Given the description of an element on the screen output the (x, y) to click on. 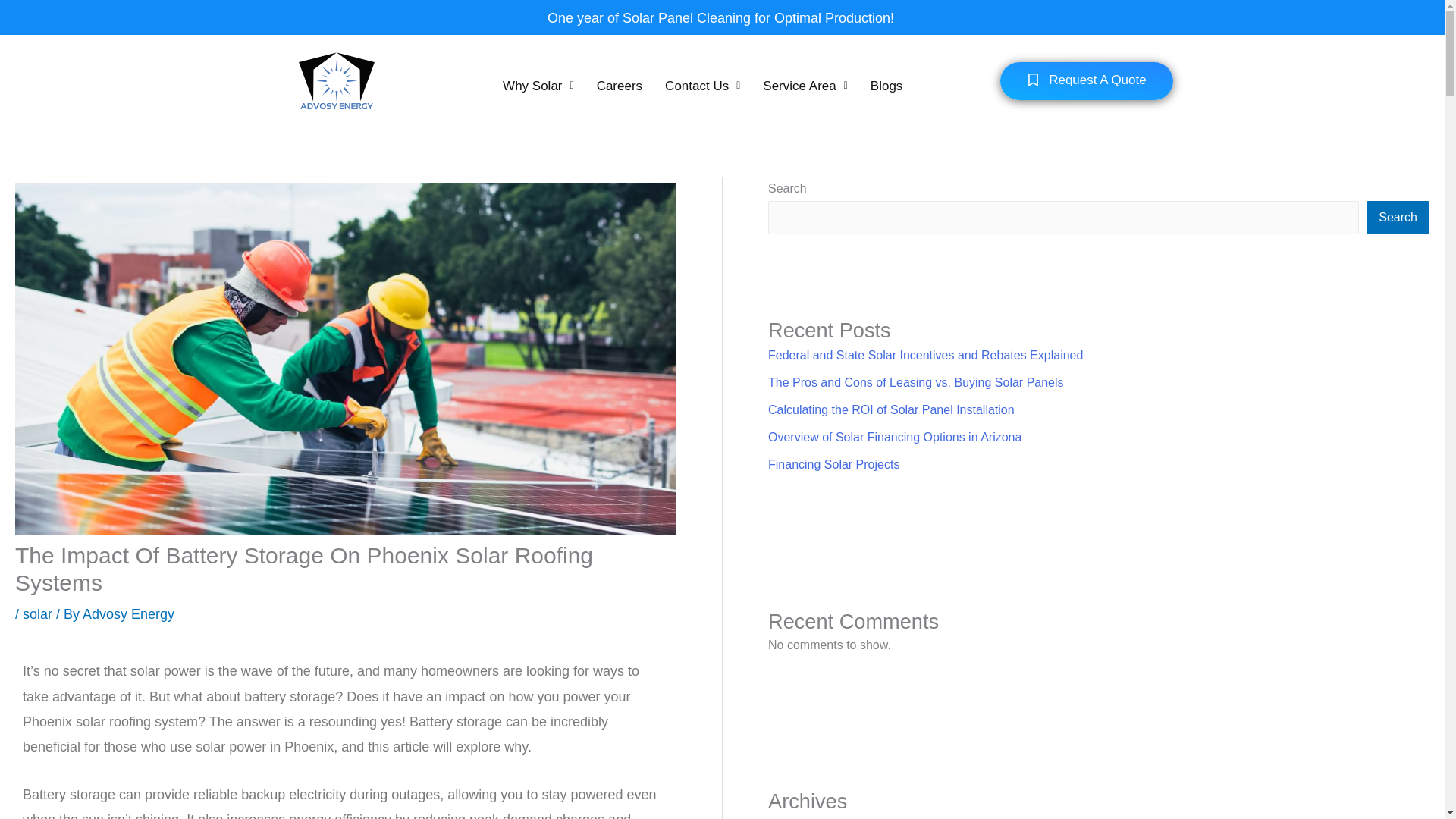
Request A Quote (1086, 80)
Why Solar (538, 85)
Blogs (886, 85)
Calculating the ROI of Solar Panel Installation (891, 409)
Service Area (805, 85)
Contact Us (702, 85)
Financing Solar Projects (833, 463)
solar (37, 613)
The Pros and Cons of Leasing vs. Buying Solar Panels (916, 382)
Search (1398, 217)
